Given the description of an element on the screen output the (x, y) to click on. 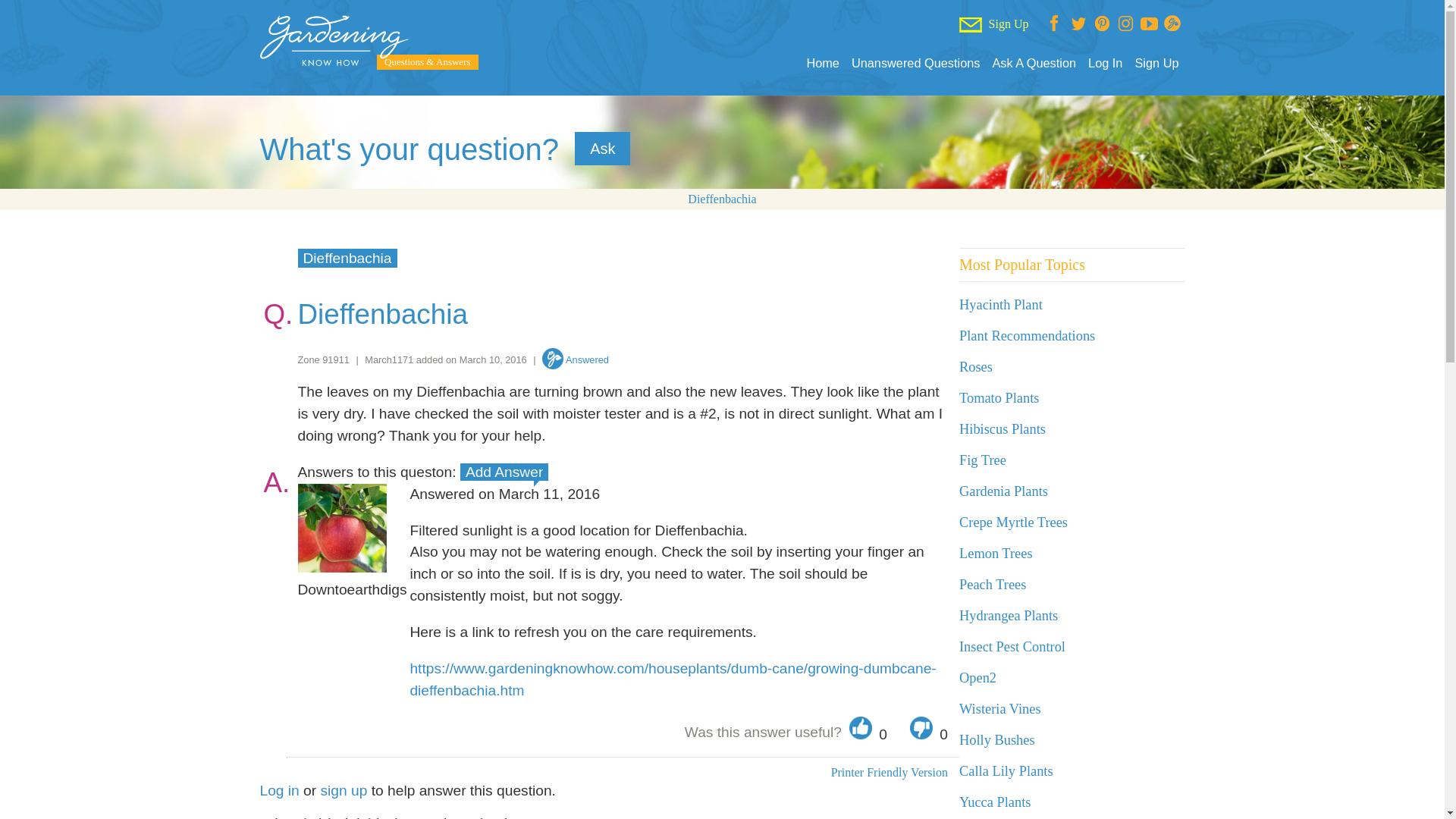
Gardenia Plants (1003, 491)
Roses (975, 366)
Gardenia Plants (1003, 491)
Hyacinth Plant (1000, 304)
Sign Up (1156, 62)
Add Answer (504, 471)
Fig Tree (982, 459)
Tomato Plants (999, 397)
Hibiscus Plants (1002, 428)
Printer Friendly Version (889, 771)
